Given the description of an element on the screen output the (x, y) to click on. 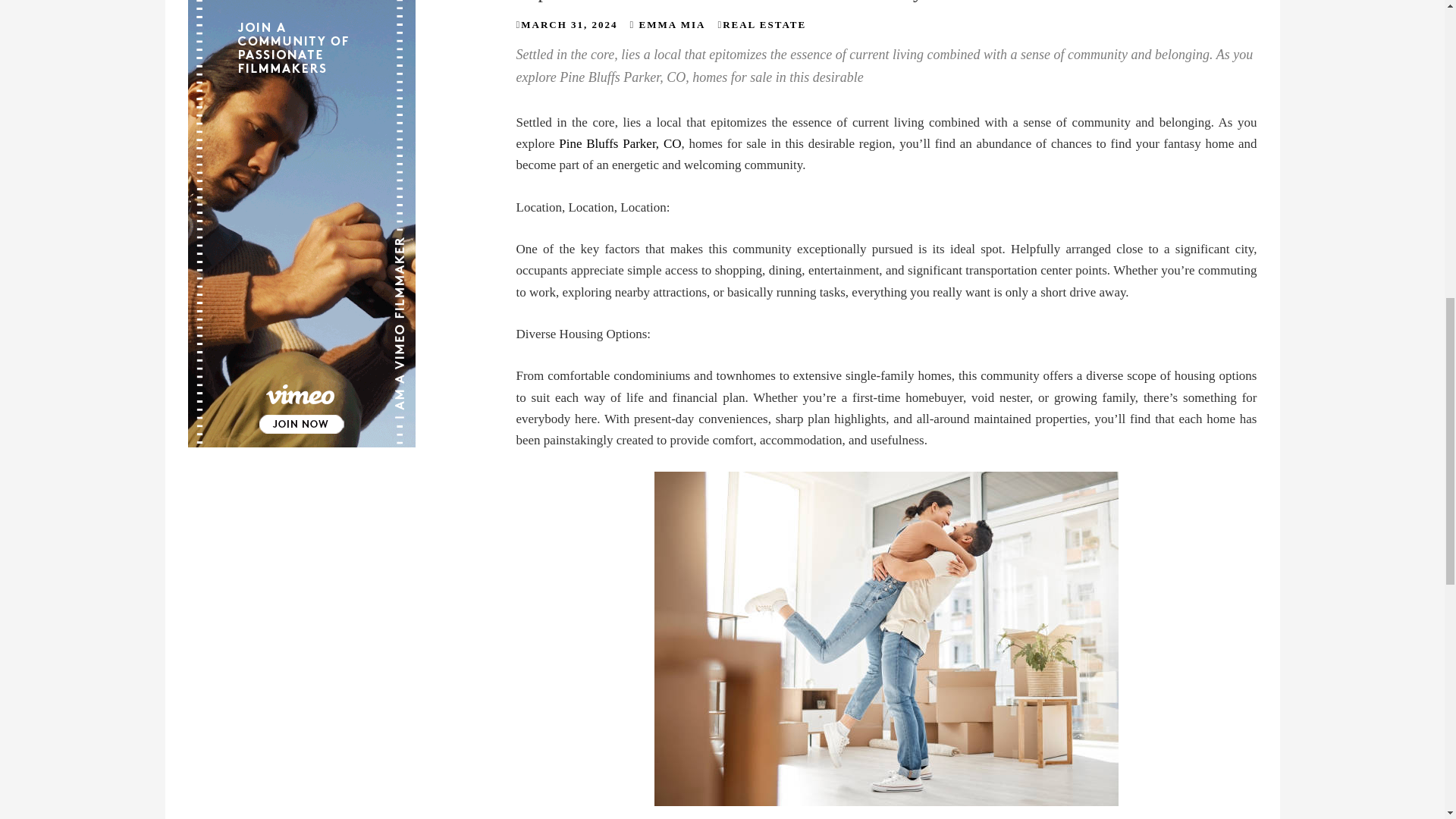
EMMA MIA (672, 24)
REAL ESTATE (764, 24)
MARCH 31, 2024 (569, 24)
Pine Bluffs Parker, CO (620, 143)
